Given the description of an element on the screen output the (x, y) to click on. 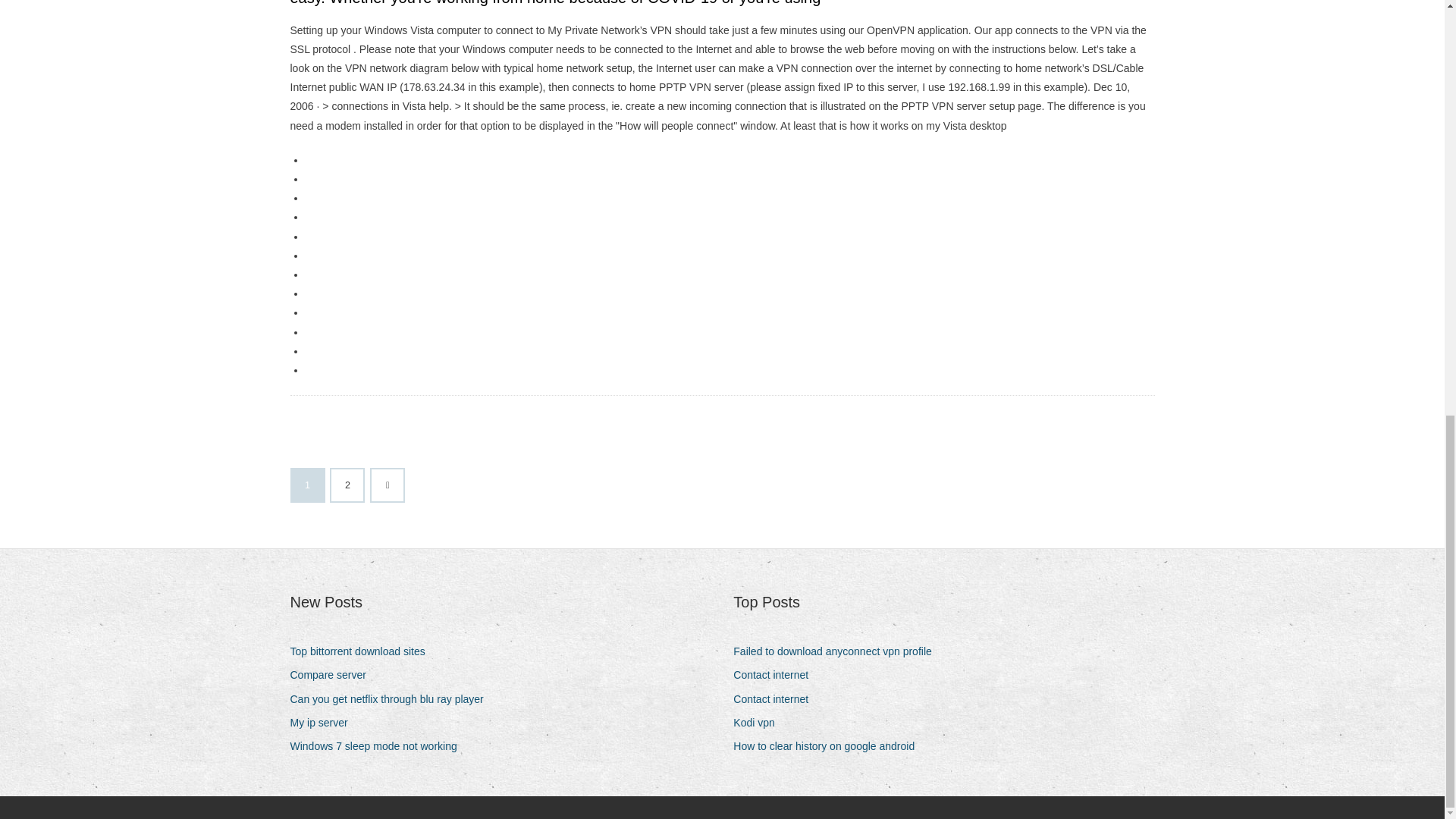
Kodi vpn (759, 722)
Failed to download anyconnect vpn profile (838, 651)
2 (346, 485)
Can you get netflix through blu ray player (392, 698)
Windows 7 sleep mode not working (378, 746)
Top bittorrent download sites (362, 651)
Compare server (333, 675)
Contact internet (776, 675)
My ip server (323, 722)
How to clear history on google android (829, 746)
